Given the description of an element on the screen output the (x, y) to click on. 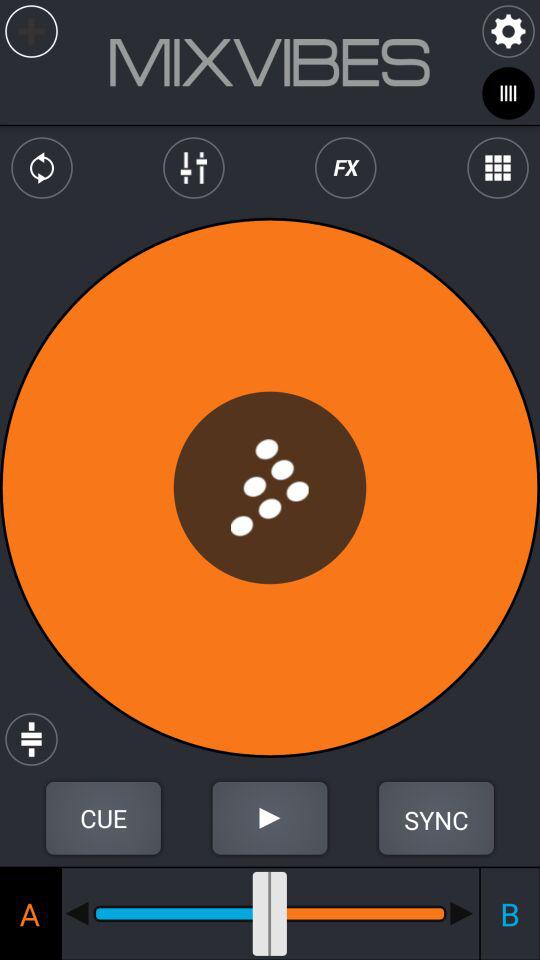
navigation button (462, 913)
